Given the description of an element on the screen output the (x, y) to click on. 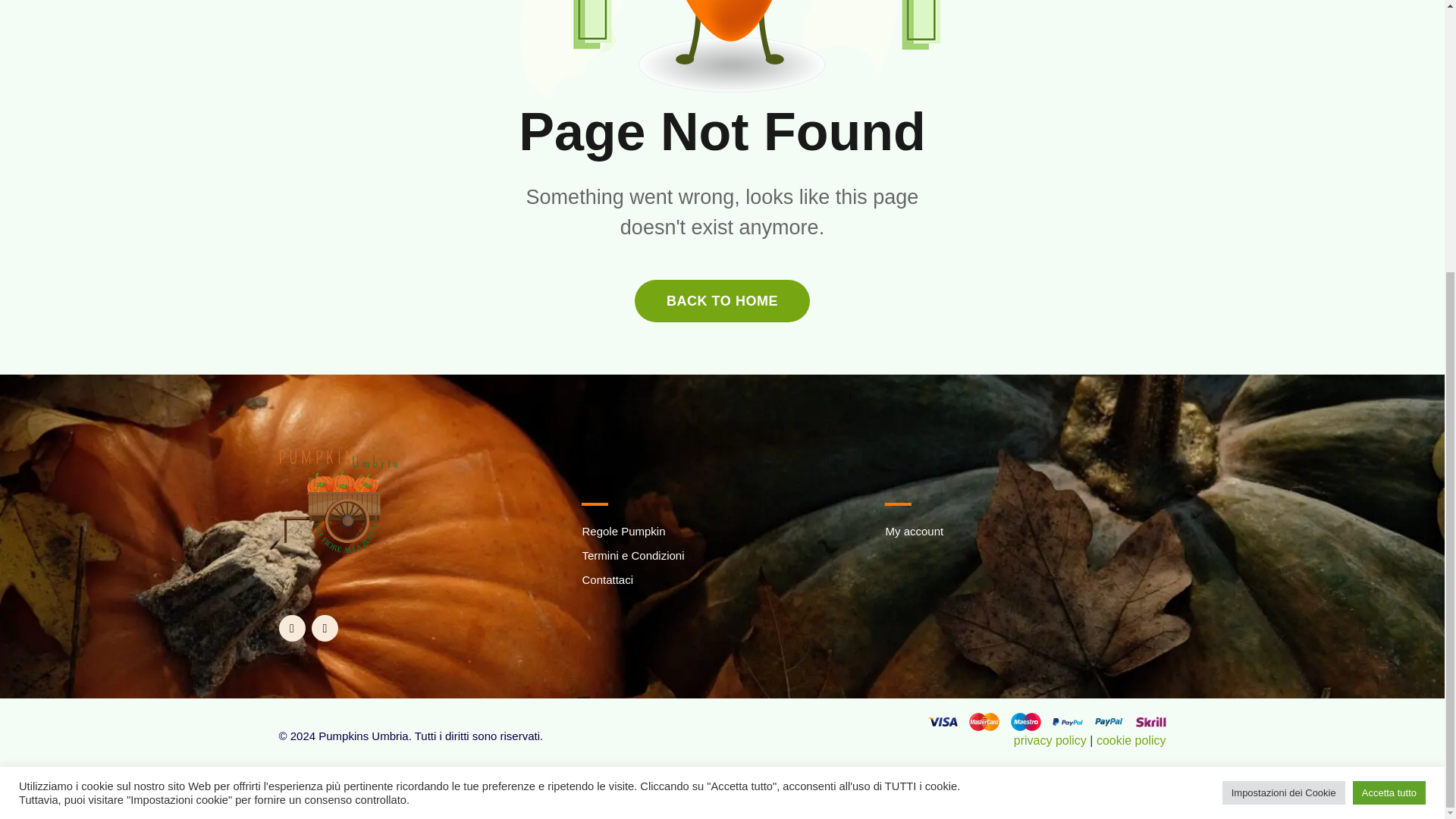
Impostazioni dei Cookie (1284, 393)
privacy policy (1049, 739)
Regole Pumpkin (622, 530)
BACK TO HOME (721, 301)
cookie policy (1131, 739)
My account (914, 530)
Contattaci (606, 579)
Termini e Condizioni (632, 554)
Accetta tutto (1388, 393)
